Given the description of an element on the screen output the (x, y) to click on. 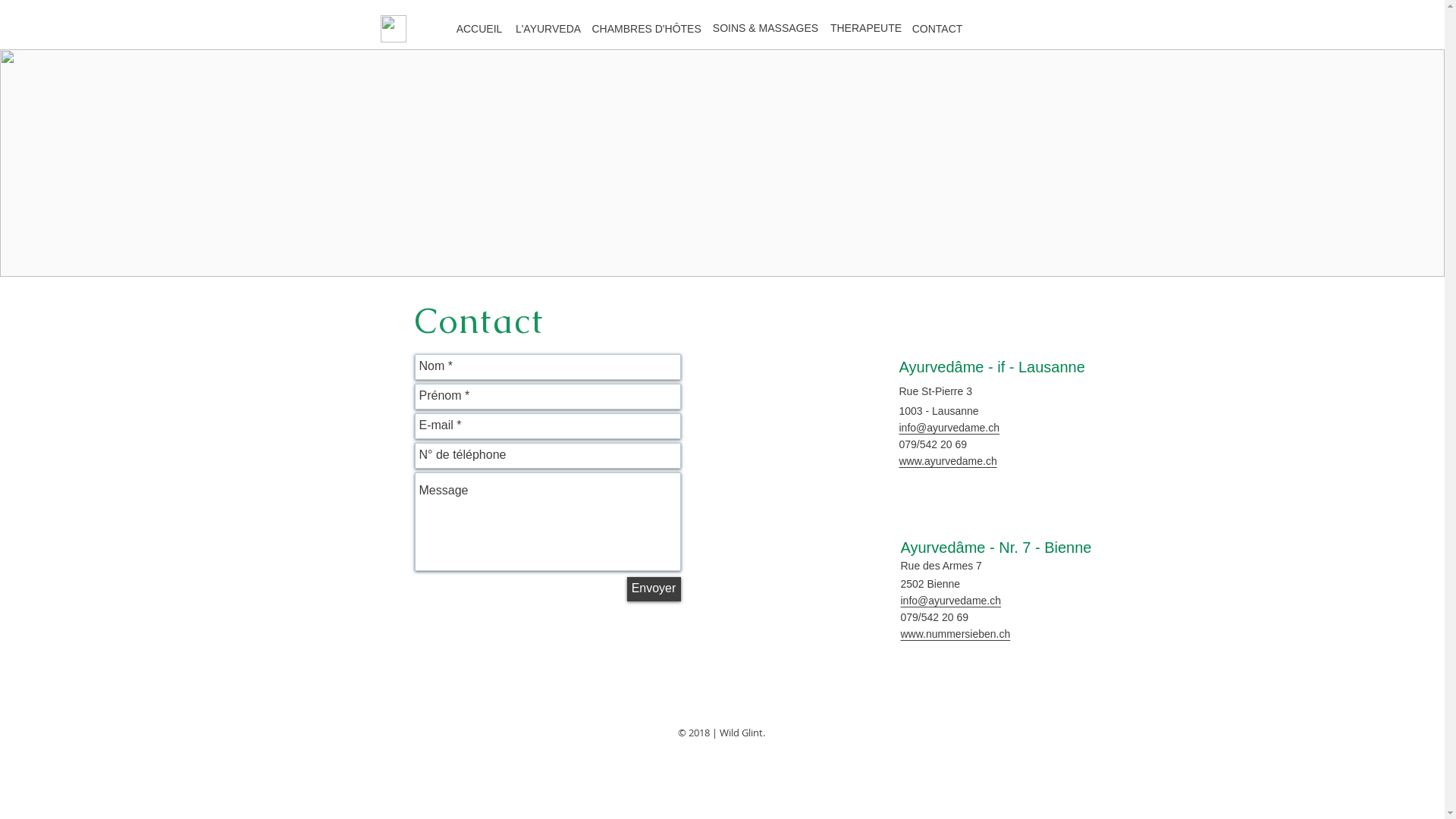
THERAPEUTE Element type: text (865, 28)
info@ayurvedame.ch Element type: text (949, 427)
THERAPEUTE Element type: text (866, 29)
info@ayurvedame.ch Element type: text (950, 600)
Google Maps Element type: hover (791, 426)
Envoyer Element type: text (653, 588)
Wild Glint.  Element type: text (742, 732)
www.nummersieben.ch Element type: text (955, 633)
CONTACT Element type: text (936, 29)
www.ayurvedame.ch Element type: text (948, 461)
SOINS & MASSAGES Element type: text (765, 28)
Google Maps Element type: hover (791, 611)
SOINS & MASSAGES Element type: text (766, 29)
L'AYURVEDA Element type: text (548, 29)
ACCUEIL Element type: text (478, 28)
L'AYURVEDA Element type: text (548, 29)
ACCUEIL Element type: text (478, 29)
CONTACT Element type: text (936, 29)
